Given the description of an element on the screen output the (x, y) to click on. 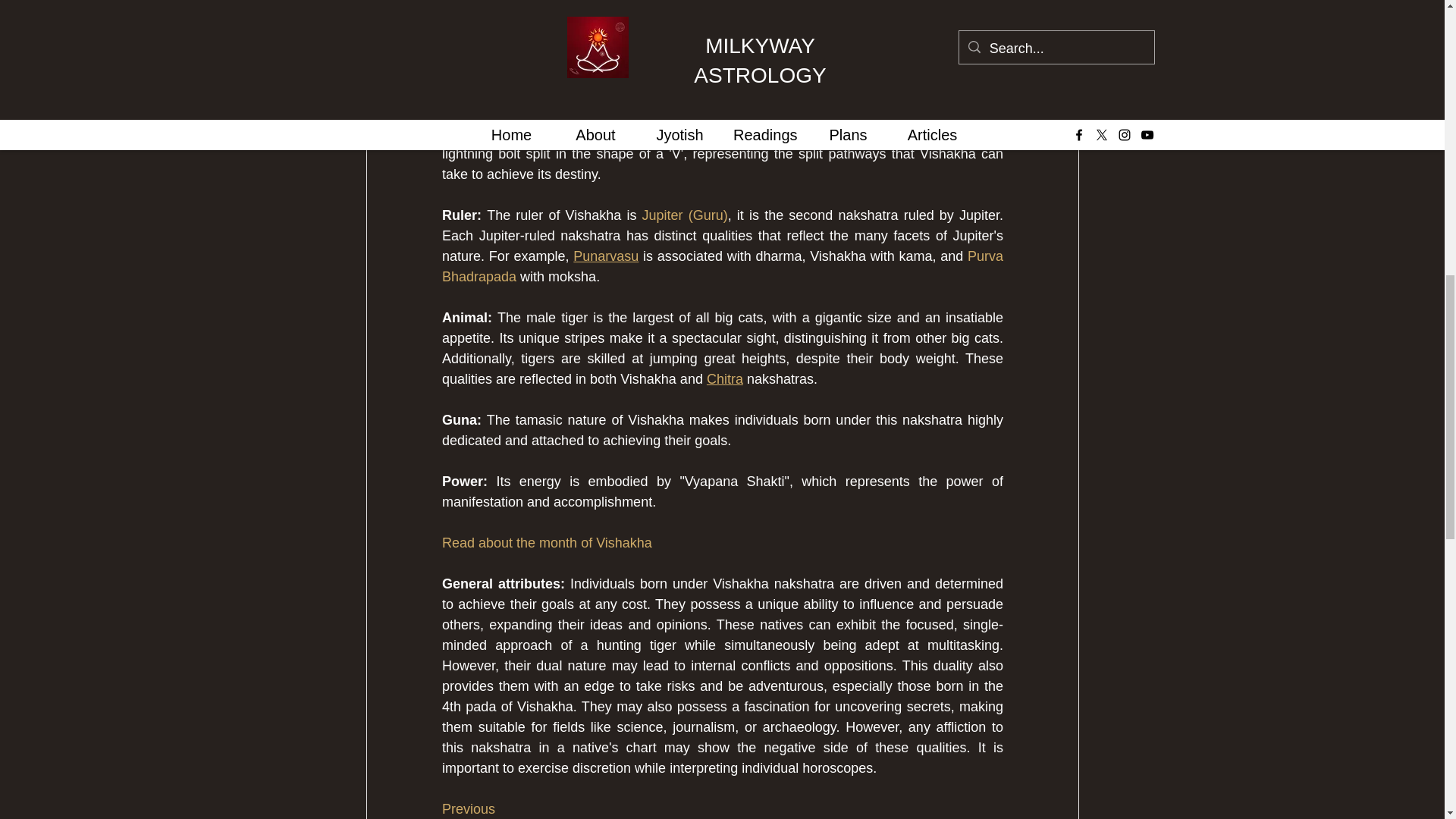
Read about the month of Vishakha (545, 542)
Purva Bhadrapada (723, 266)
Punarvasu (606, 255)
Chitra (724, 378)
Previous (468, 808)
